Given the description of an element on the screen output the (x, y) to click on. 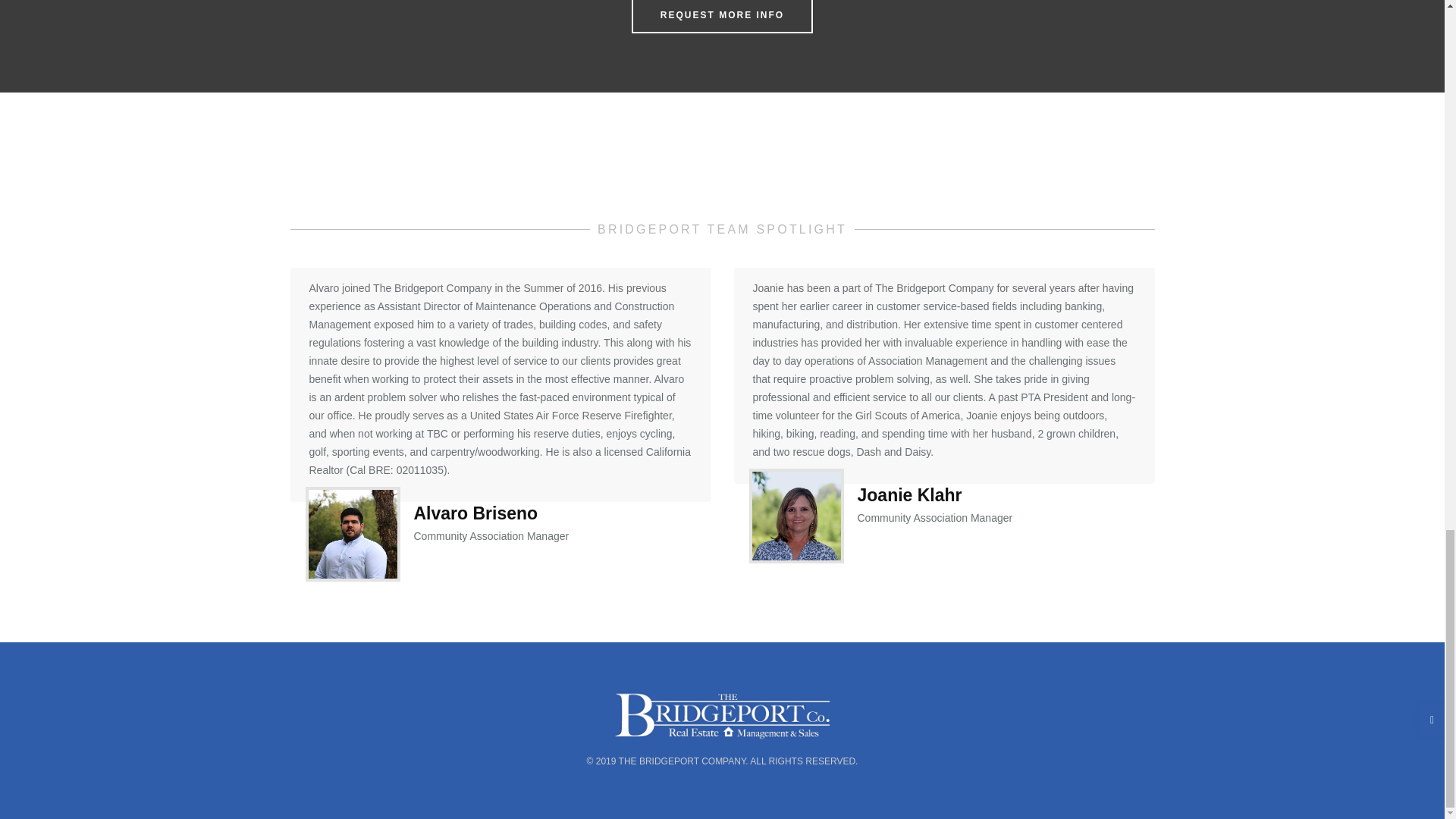
REQUEST MORE INFO (721, 16)
REQUEST MORE INFO (721, 14)
